Given the description of an element on the screen output the (x, y) to click on. 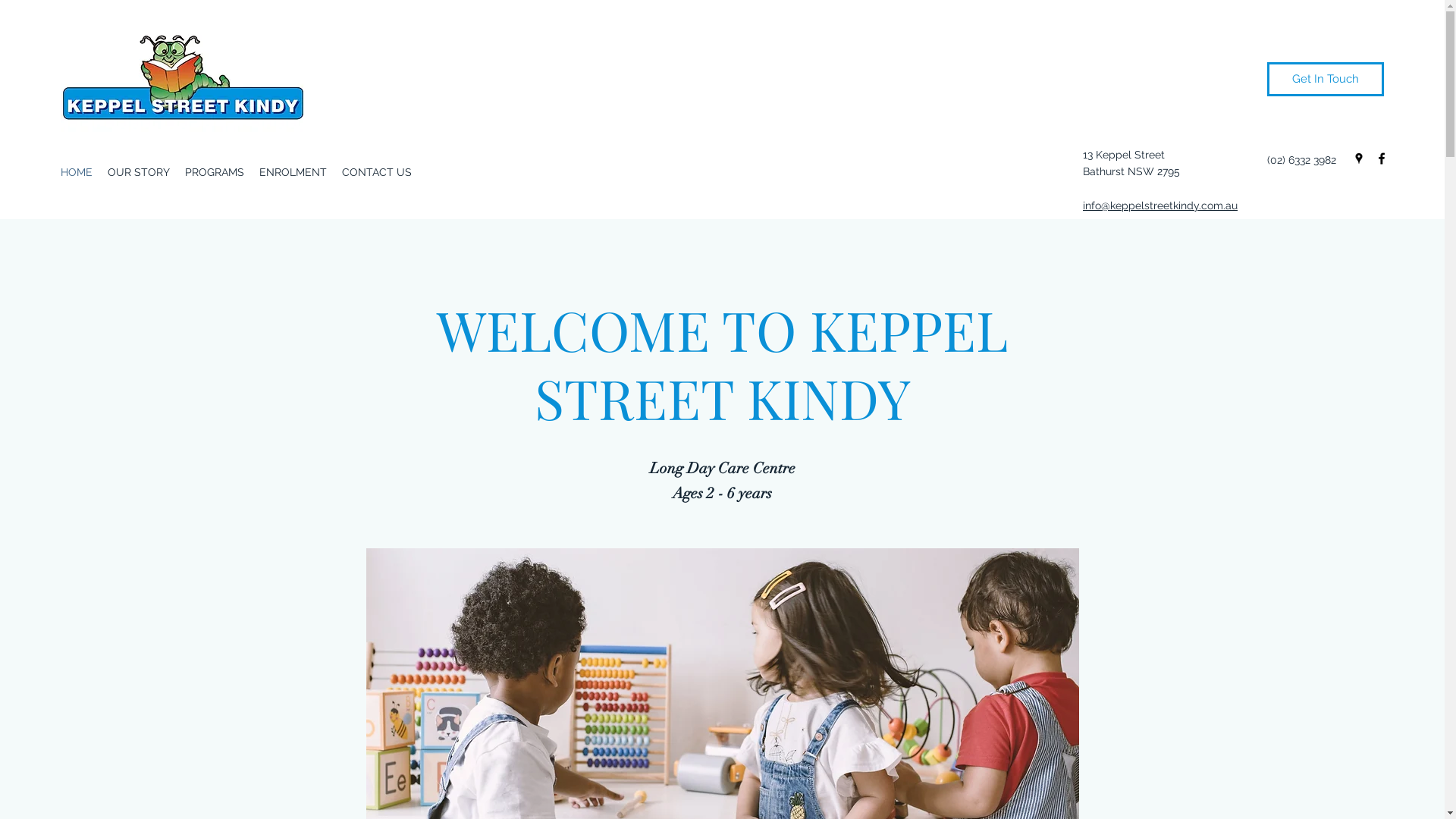
CONTACT US Element type: text (376, 171)
OUR STORY Element type: text (138, 171)
ENROLMENT Element type: text (292, 171)
PROGRAMS Element type: text (214, 171)
HOME Element type: text (76, 171)
info@keppelstreetkindy.com.au Element type: text (1159, 205)
Get In Touch Element type: text (1325, 79)
